Given the description of an element on the screen output the (x, y) to click on. 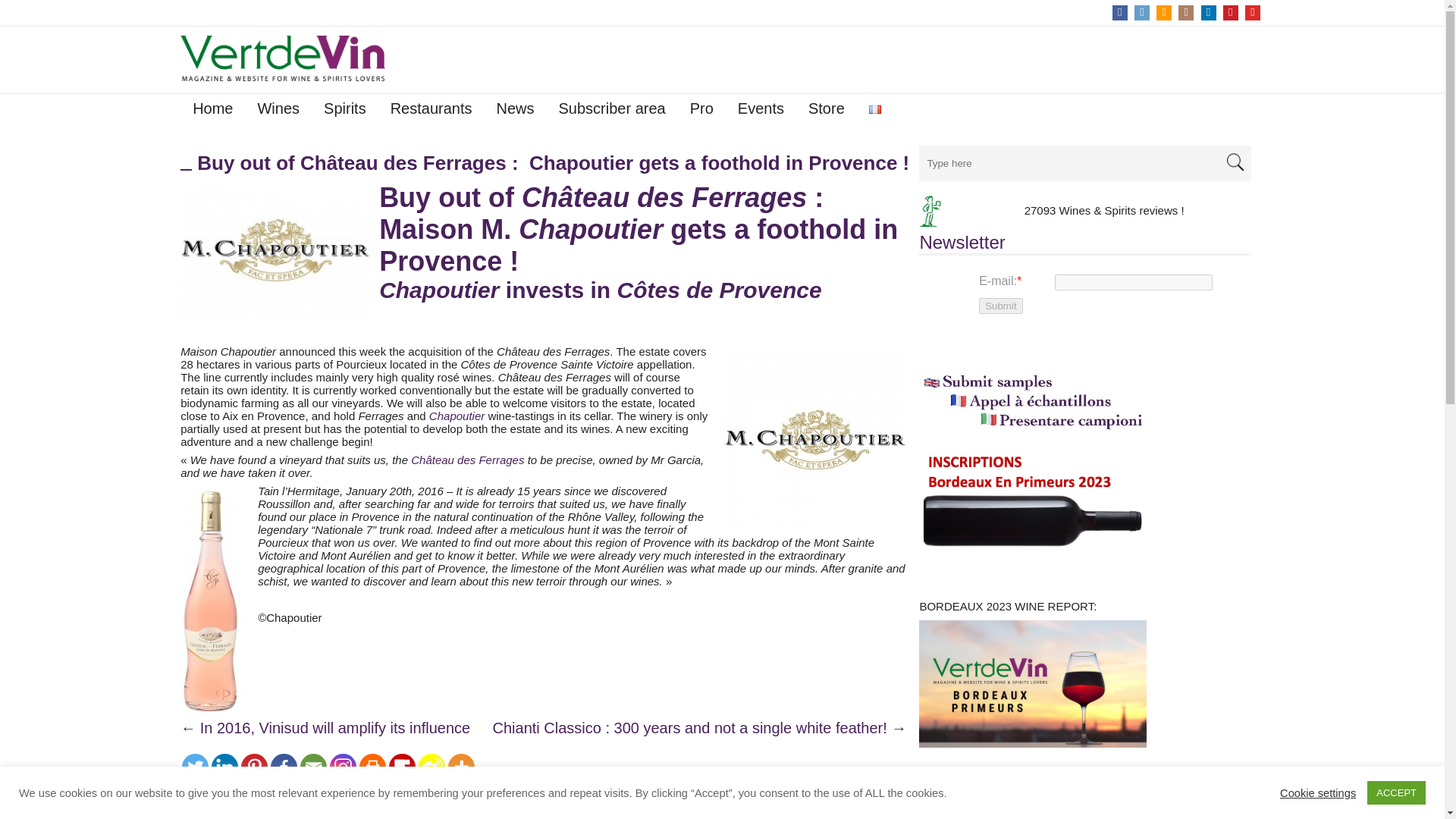
Pinterest (254, 766)
Spirits (344, 111)
Subscriber area (611, 111)
Twitter (195, 766)
Search (1234, 162)
Wines (277, 111)
News (514, 111)
Instagram (343, 766)
Vertdevin (282, 58)
Restaurants (431, 111)
